Given the description of an element on the screen output the (x, y) to click on. 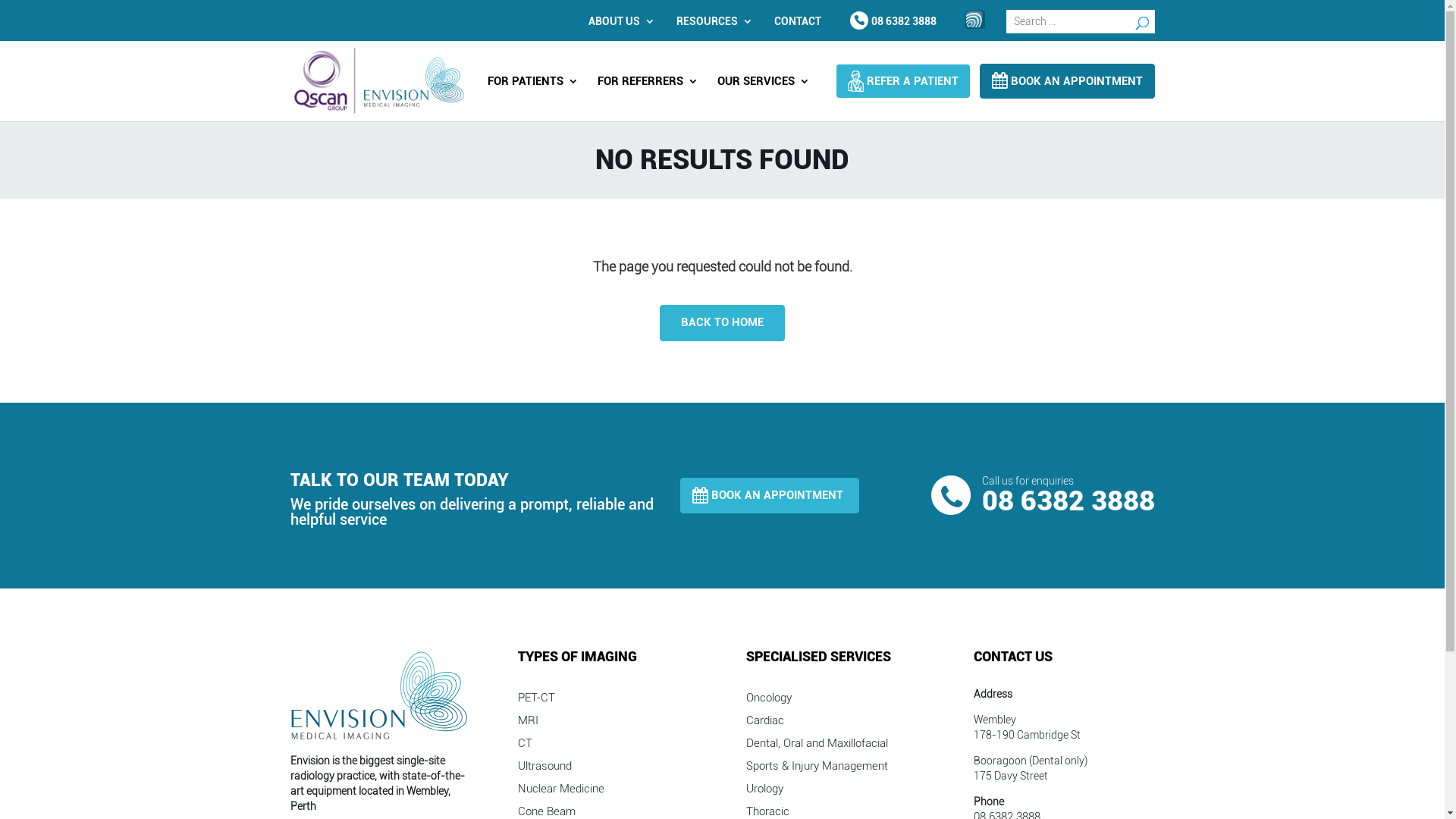
RESOURCES Element type: text (710, 20)
08 6382 3888 Element type: text (893, 20)
MRI Element type: text (527, 723)
FOR PATIENTS Element type: text (531, 86)
OUR SERVICES Element type: text (763, 86)
BACK TO HOME Element type: text (721, 322)
Dental, Oral and Maxillofacial Element type: text (817, 745)
BOOK AN APPOINTMENT Element type: text (1066, 80)
Search for: Element type: hover (1079, 21)
Urology Element type: text (764, 791)
FOR REFERRERS Element type: text (647, 86)
Ultrasound Element type: text (544, 768)
BOOK AN APPOINTMENT Element type: text (769, 495)
CT Element type: text (524, 745)
EMI_LOGO-01 Element type: hover (379, 694)
Sports & Injury Management Element type: text (817, 768)
Cardiac Element type: text (765, 723)
CONTACT Element type: text (797, 20)
Nuclear Medicine Element type: text (560, 791)
Oncology Element type: text (768, 700)
REFER A PATIENT Element type: text (902, 80)
ABOUT US Element type: text (617, 20)
08 6382 3888 Element type: text (1067, 501)
PET-CT Element type: text (536, 700)
